Given the description of an element on the screen output the (x, y) to click on. 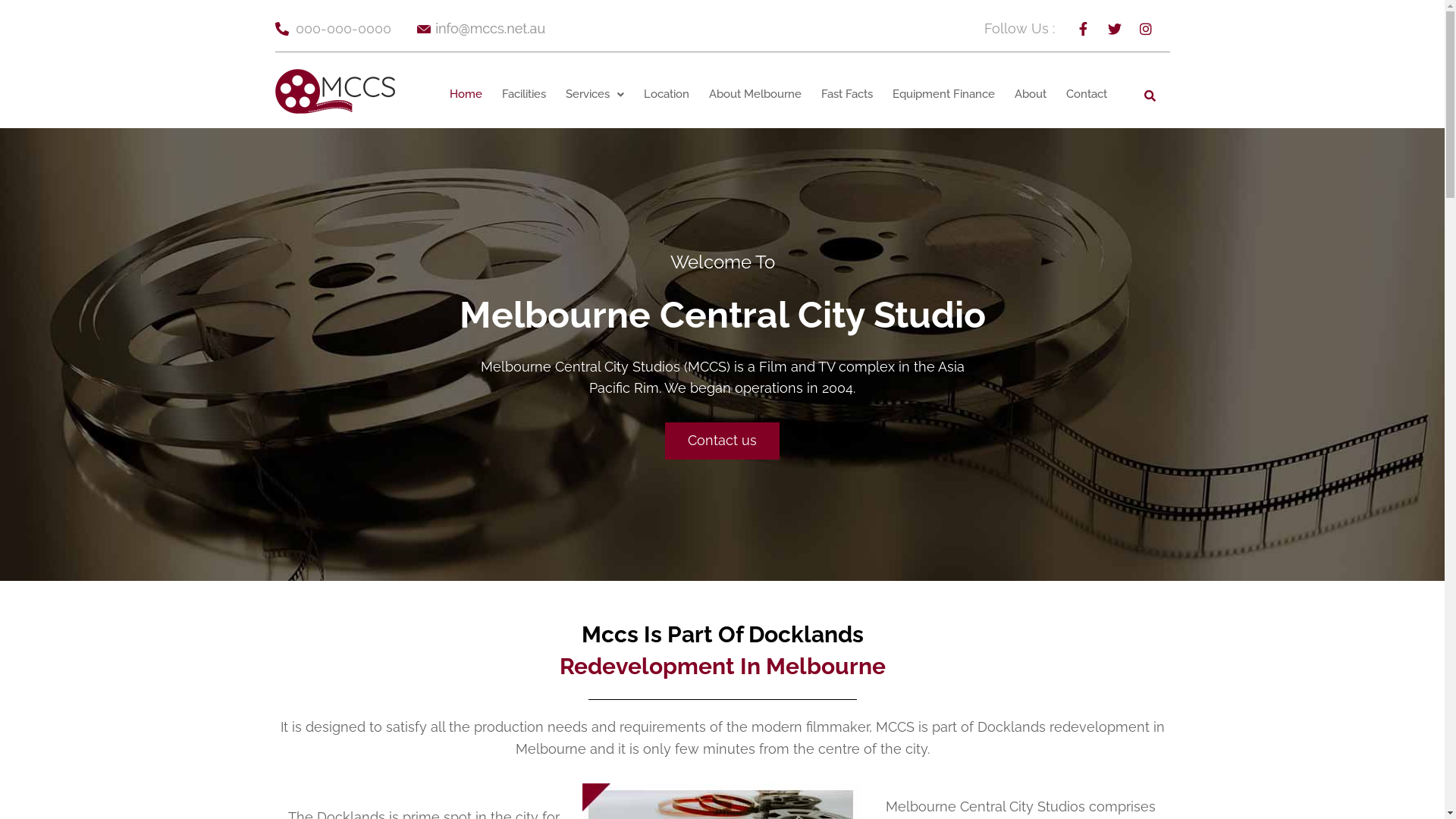
Facilities Element type: text (523, 94)
Home Element type: text (465, 94)
Location Element type: text (666, 94)
Contact us Element type: text (722, 440)
Contact Element type: text (1086, 94)
About Melbourne Element type: text (755, 94)
Fast Facts Element type: text (846, 94)
Search Element type: hover (1147, 94)
About Element type: text (1030, 94)
Equipment Finance Element type: text (943, 94)
Services Element type: text (594, 94)
